Given the description of an element on the screen output the (x, y) to click on. 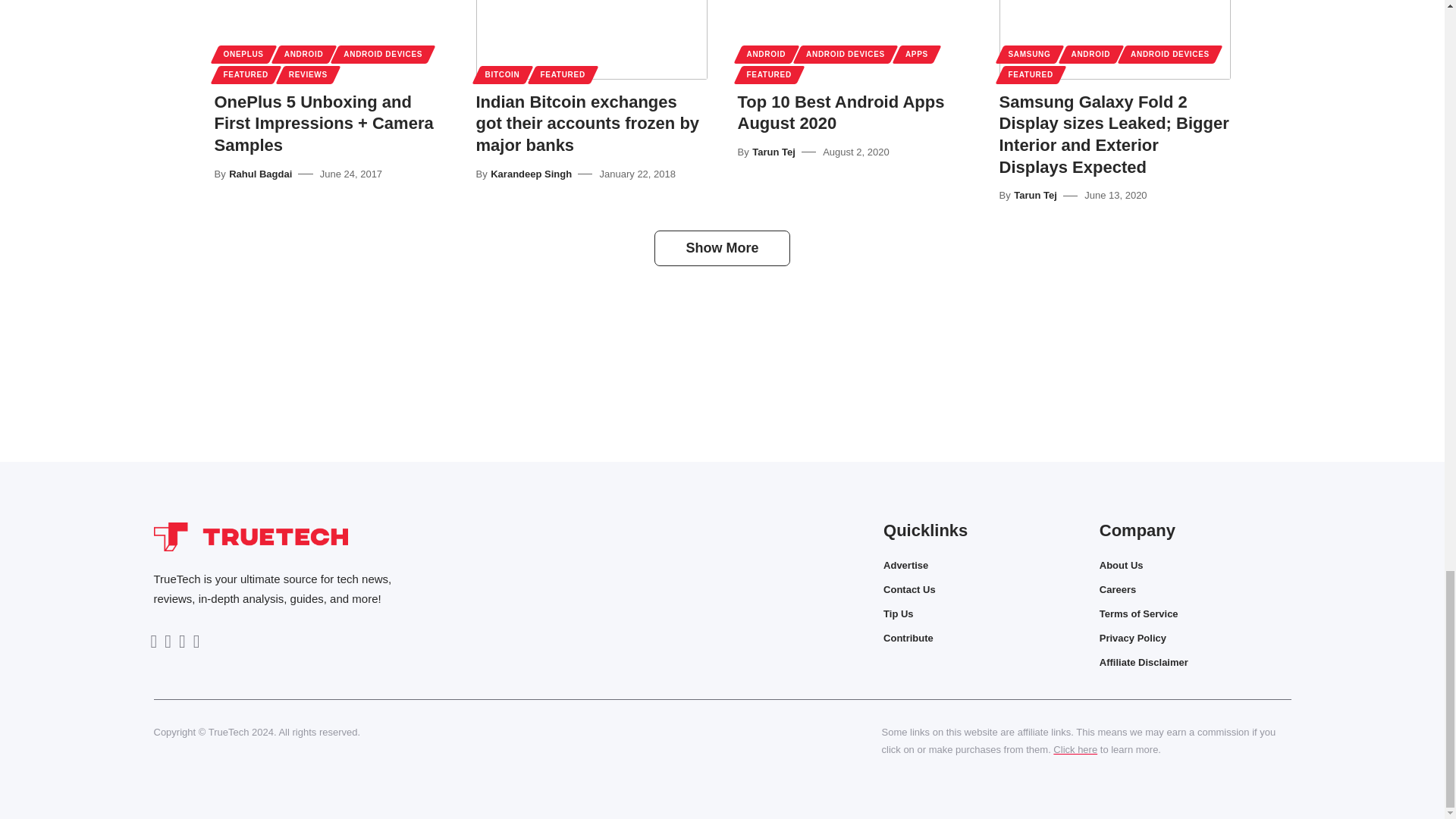
Top 10 Best Android Apps August 2020 (852, 39)
